Given the description of an element on the screen output the (x, y) to click on. 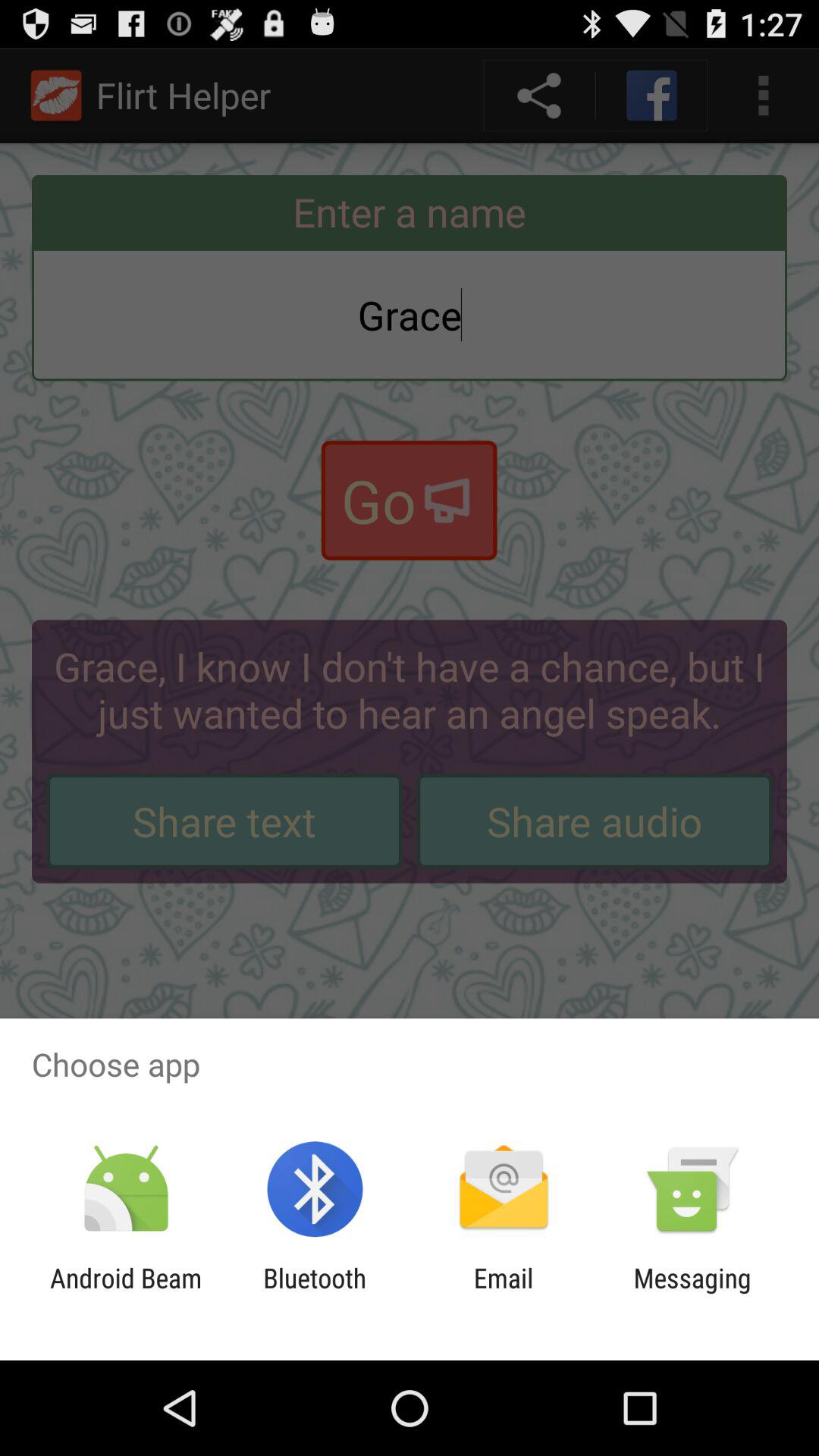
turn on item to the left of messaging item (503, 1293)
